Given the description of an element on the screen output the (x, y) to click on. 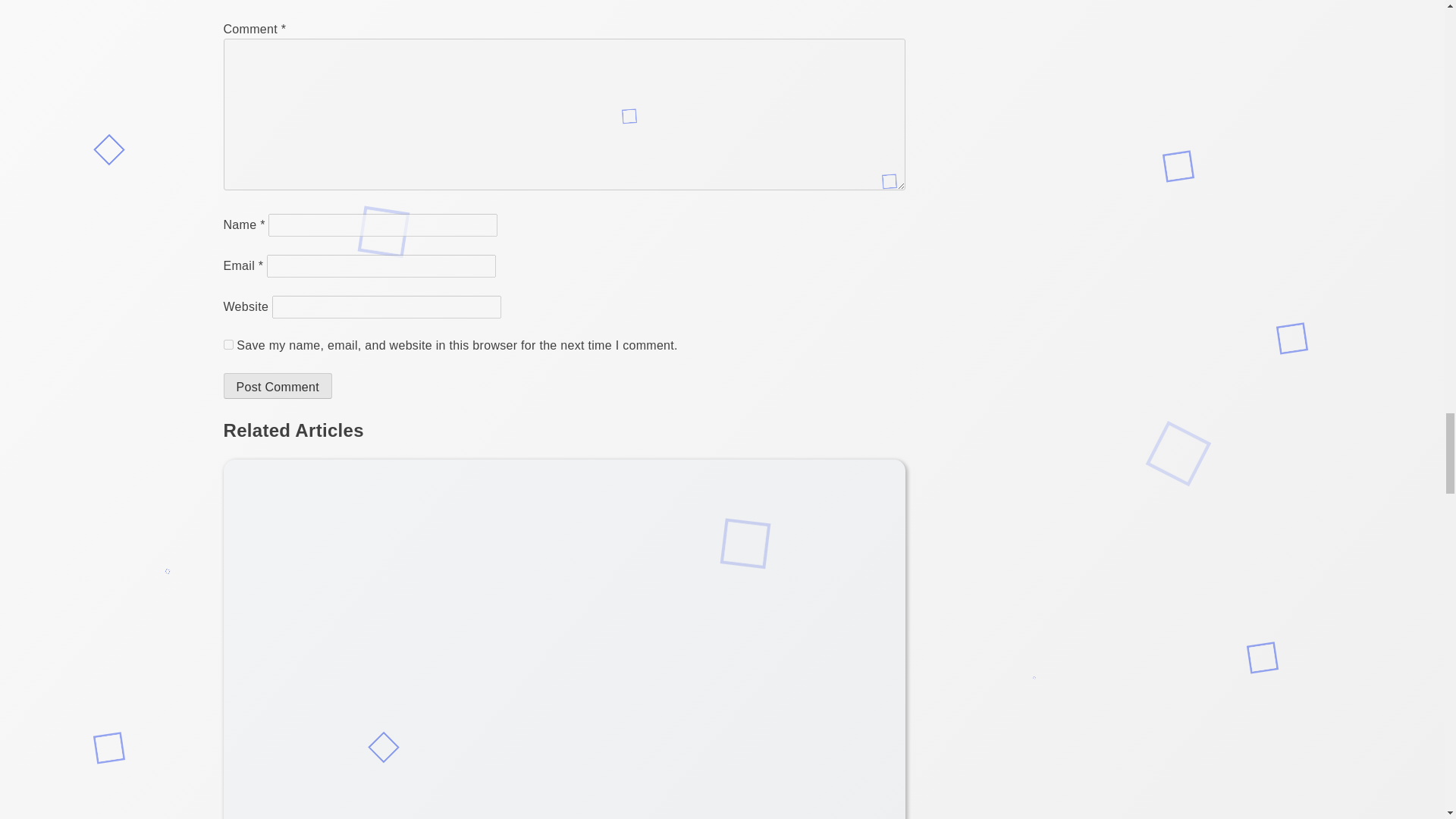
Post Comment (276, 385)
yes (227, 344)
